Given the description of an element on the screen output the (x, y) to click on. 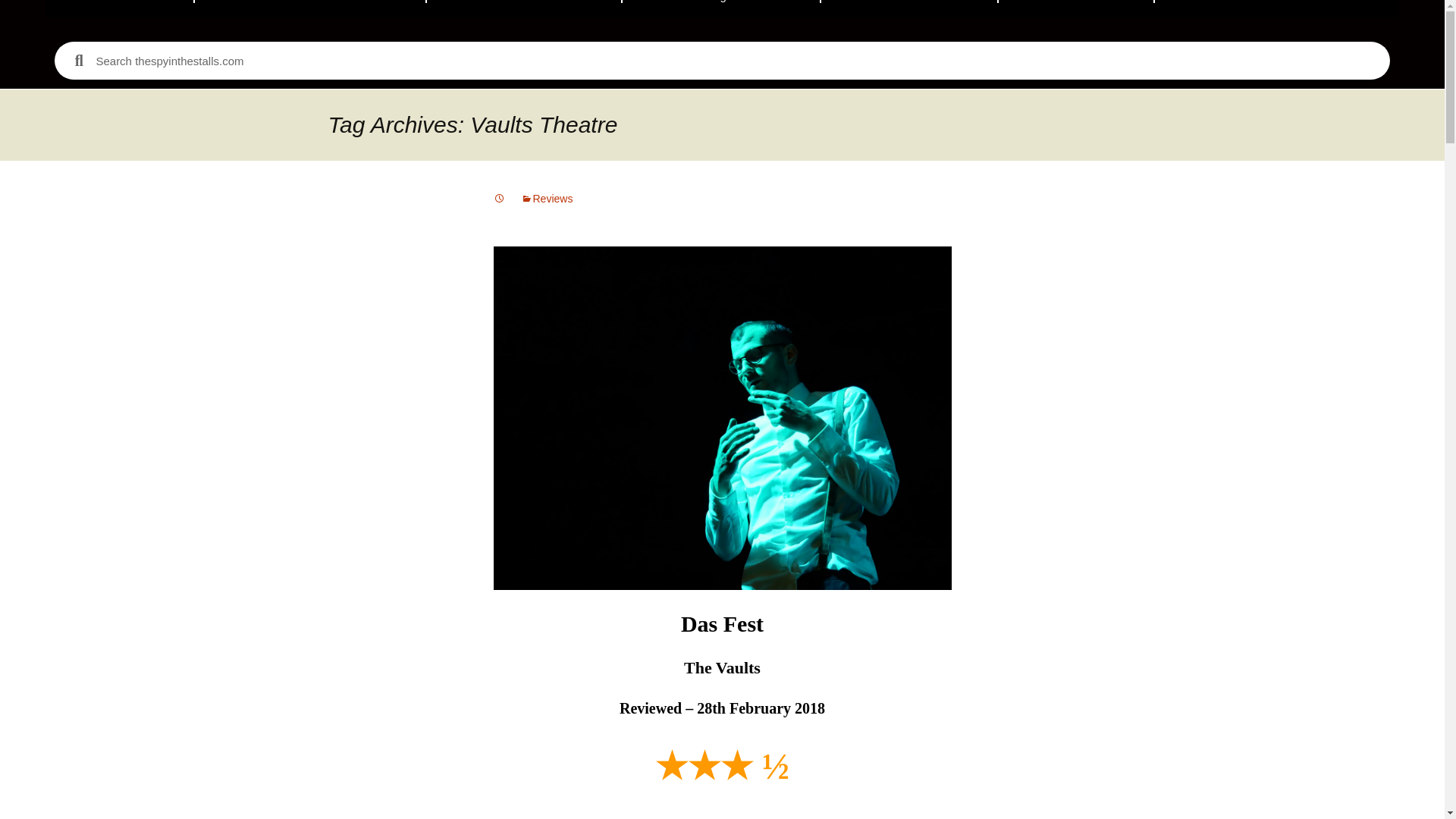
Edinburgh 2024 (721, 8)
Show Index (909, 8)
Latest Reviews (523, 8)
Archive (1075, 8)
Home (119, 8)
Recommended Shows (310, 8)
